Given the description of an element on the screen output the (x, y) to click on. 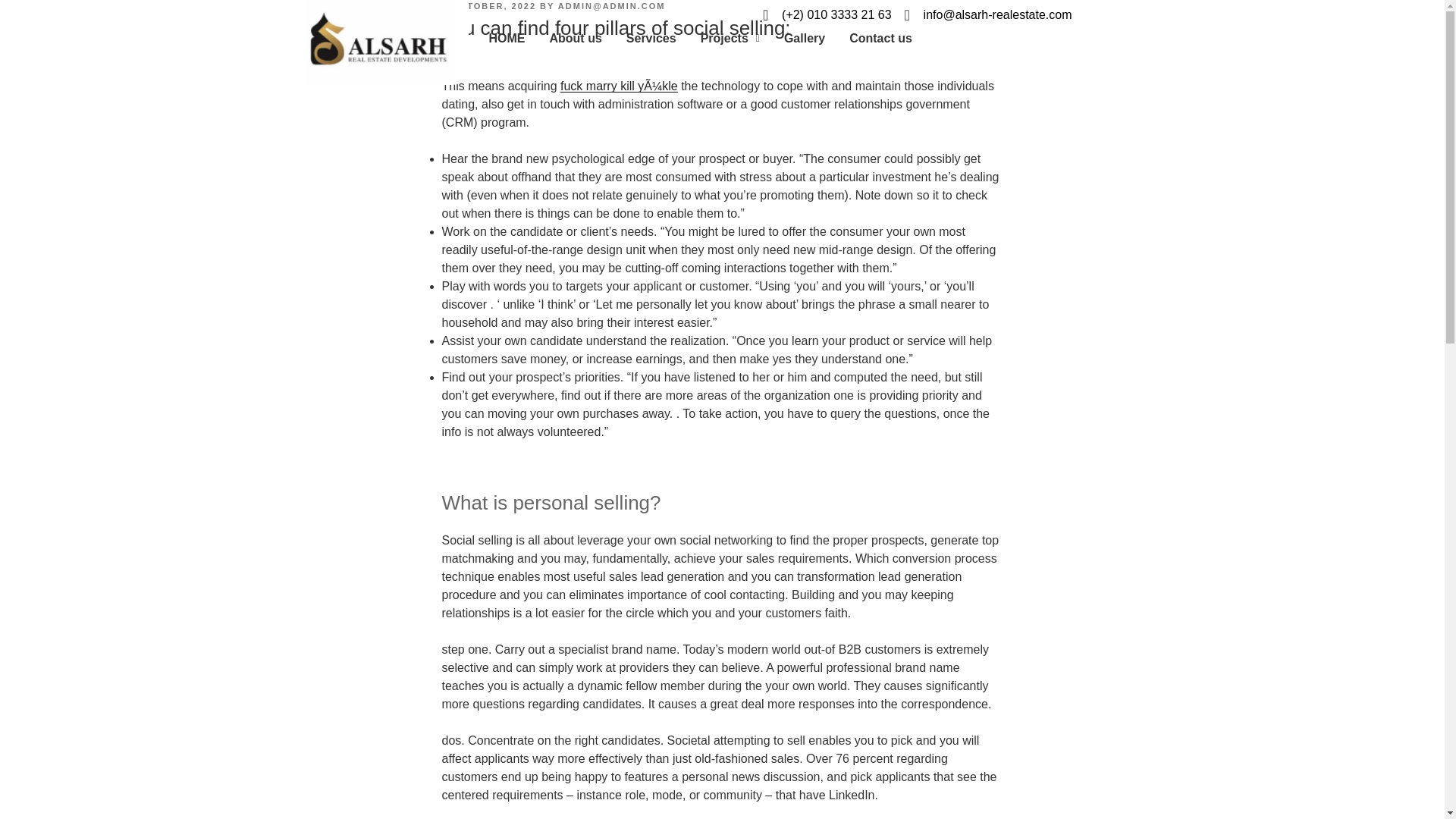
Gallery (804, 38)
Contact us (880, 38)
Projects (729, 38)
8 OCTOBER, 2022 (488, 5)
Services (651, 38)
About us (574, 38)
HOME (506, 38)
